Given the description of an element on the screen output the (x, y) to click on. 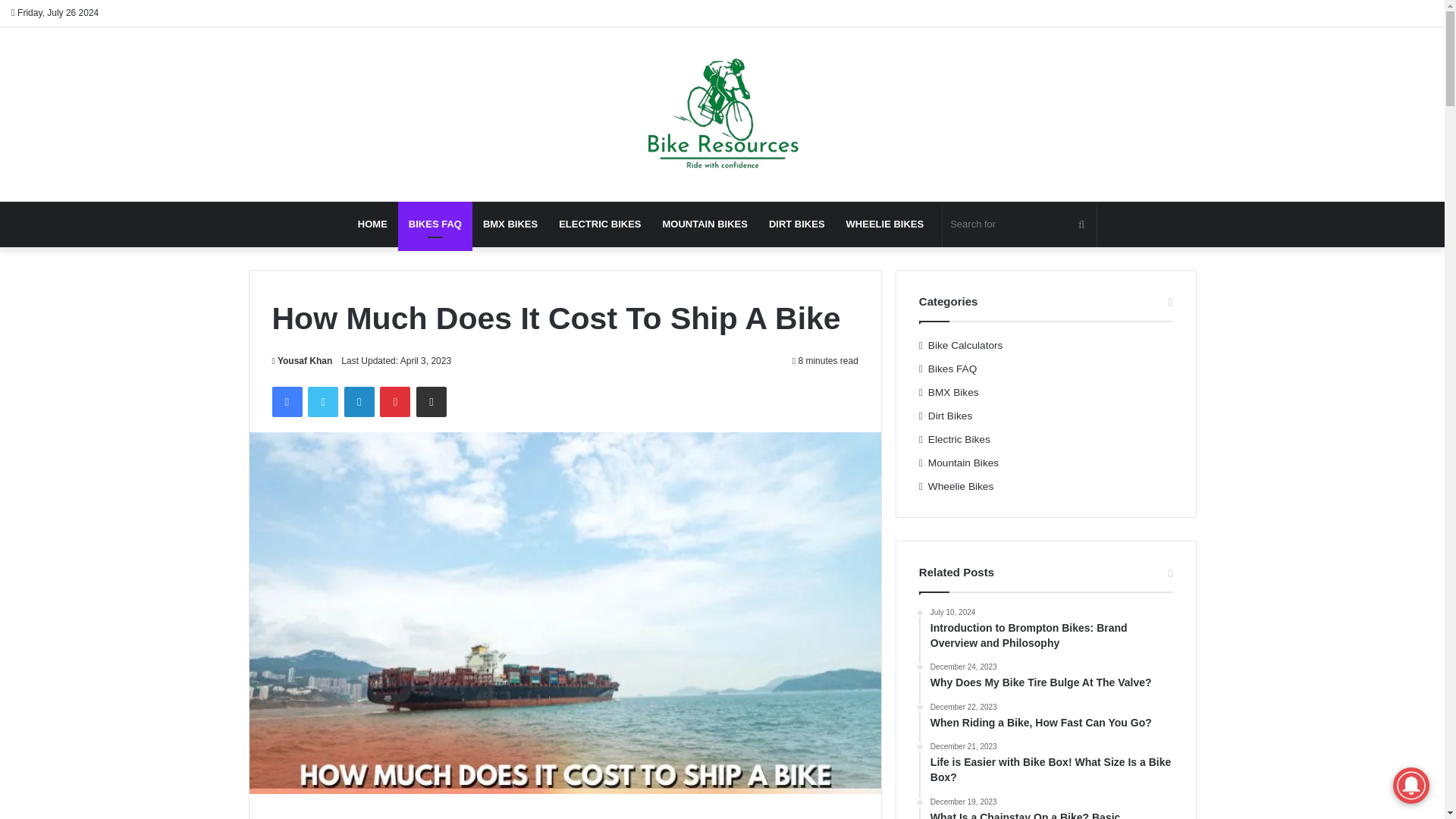
WHEELIE BIKES (884, 224)
BIKES FAQ (434, 224)
Twitter (322, 401)
ELECTRIC BIKES (599, 224)
Share via Email (431, 401)
HOME (372, 224)
Search for (1019, 224)
Pinterest (395, 401)
Facebook (285, 401)
Facebook (285, 401)
BMX BIKES (509, 224)
Pinterest (395, 401)
Yousaf Khan (300, 360)
MOUNTAIN BIKES (703, 224)
Bike Resources (721, 114)
